Given the description of an element on the screen output the (x, y) to click on. 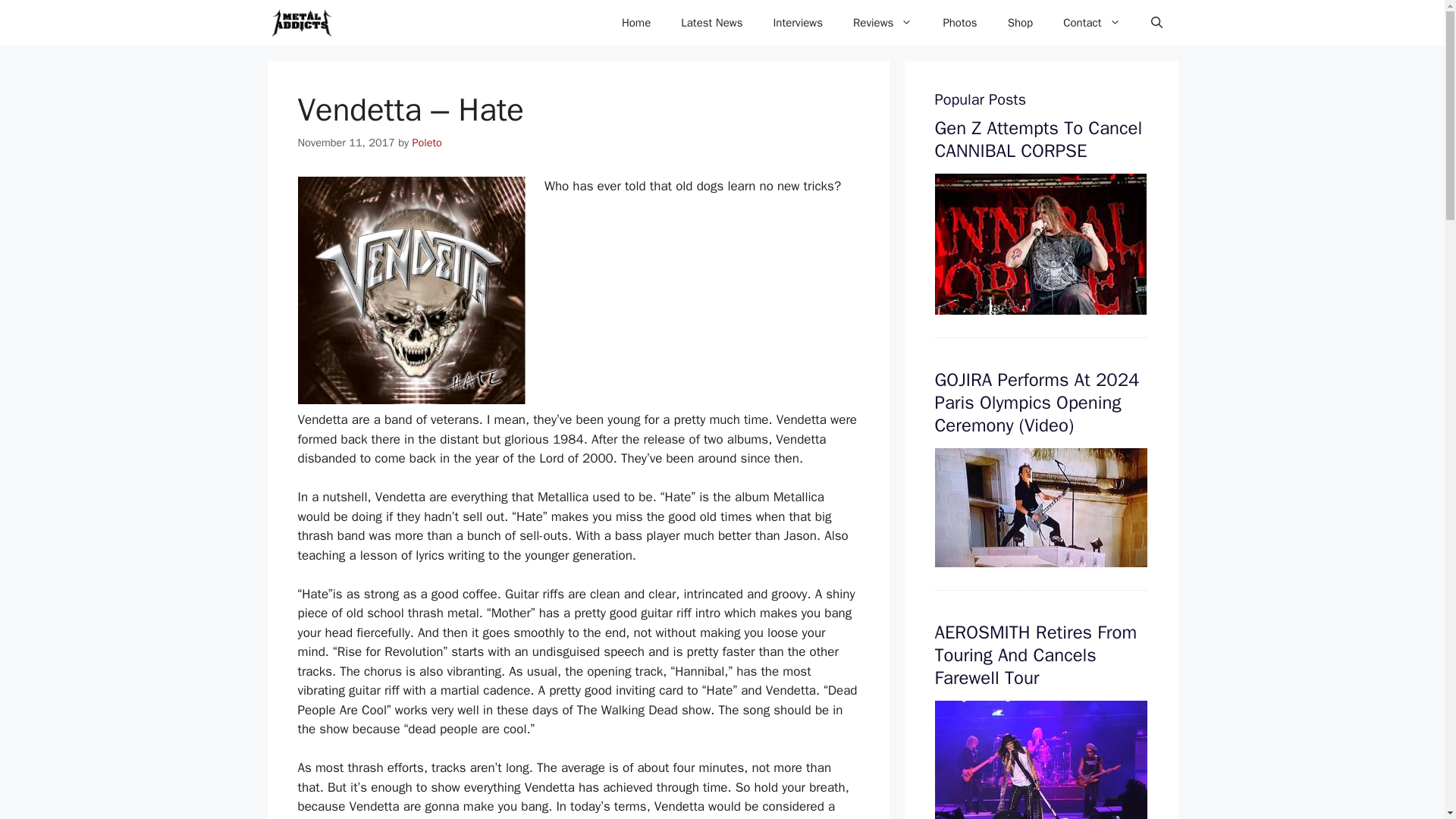
Metal Addicts Shop (1020, 22)
Contact (1091, 22)
Latest News (711, 22)
AEROSMITH Retires From Touring And Cancels Farewell Tour (1035, 654)
Home (636, 22)
Shop (1020, 22)
Reviews (882, 22)
Photos (959, 22)
Gen Z Attempts To Cancel CANNIBAL CORPSE (1037, 139)
View all posts by Poleto (427, 142)
